Given the description of an element on the screen output the (x, y) to click on. 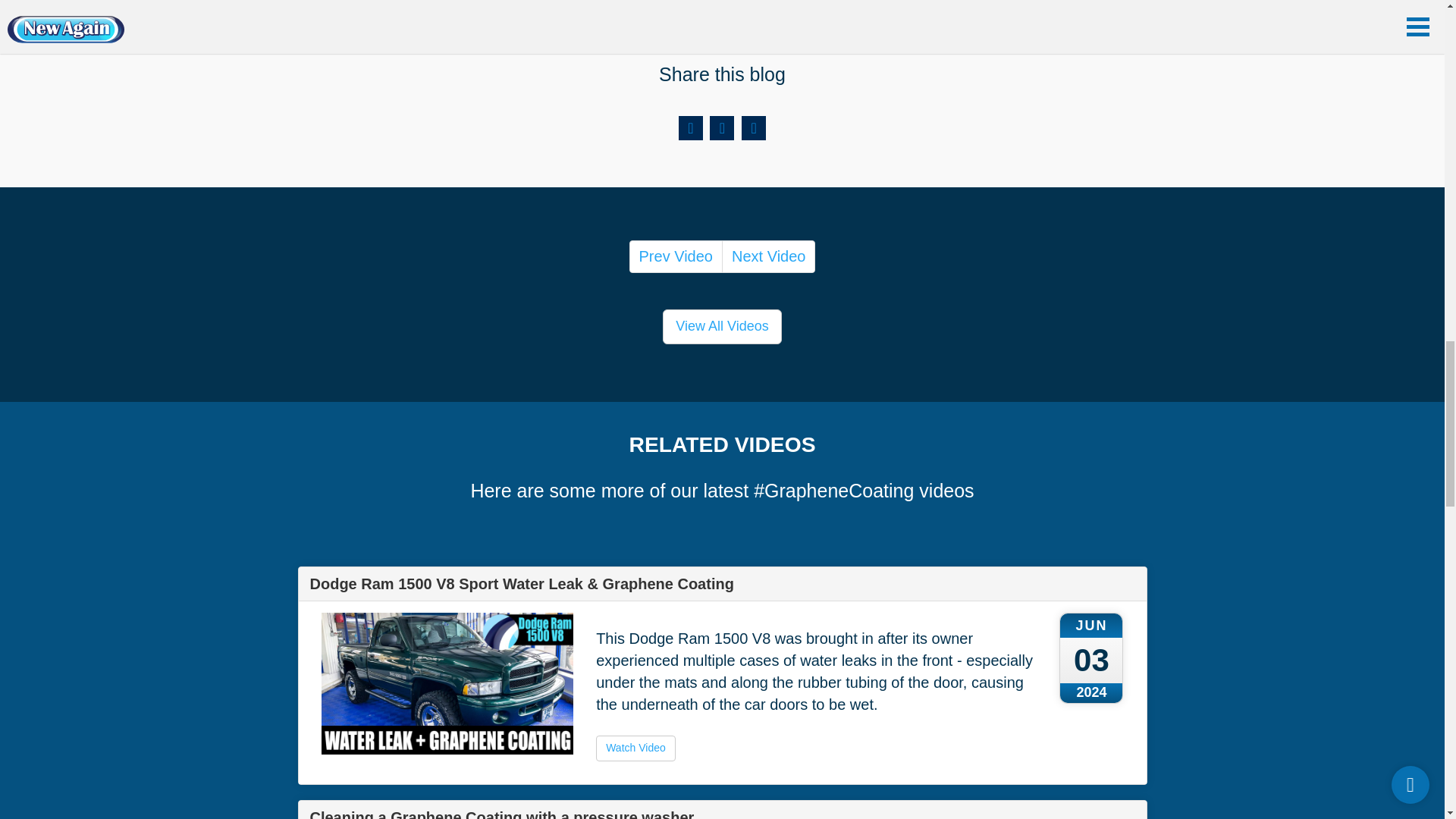
View All Videos (721, 326)
Pintrest (753, 128)
Twitter (721, 128)
Watch Video (635, 748)
Facebook (690, 128)
Next Video (768, 256)
Prev Video (675, 256)
